Given the description of an element on the screen output the (x, y) to click on. 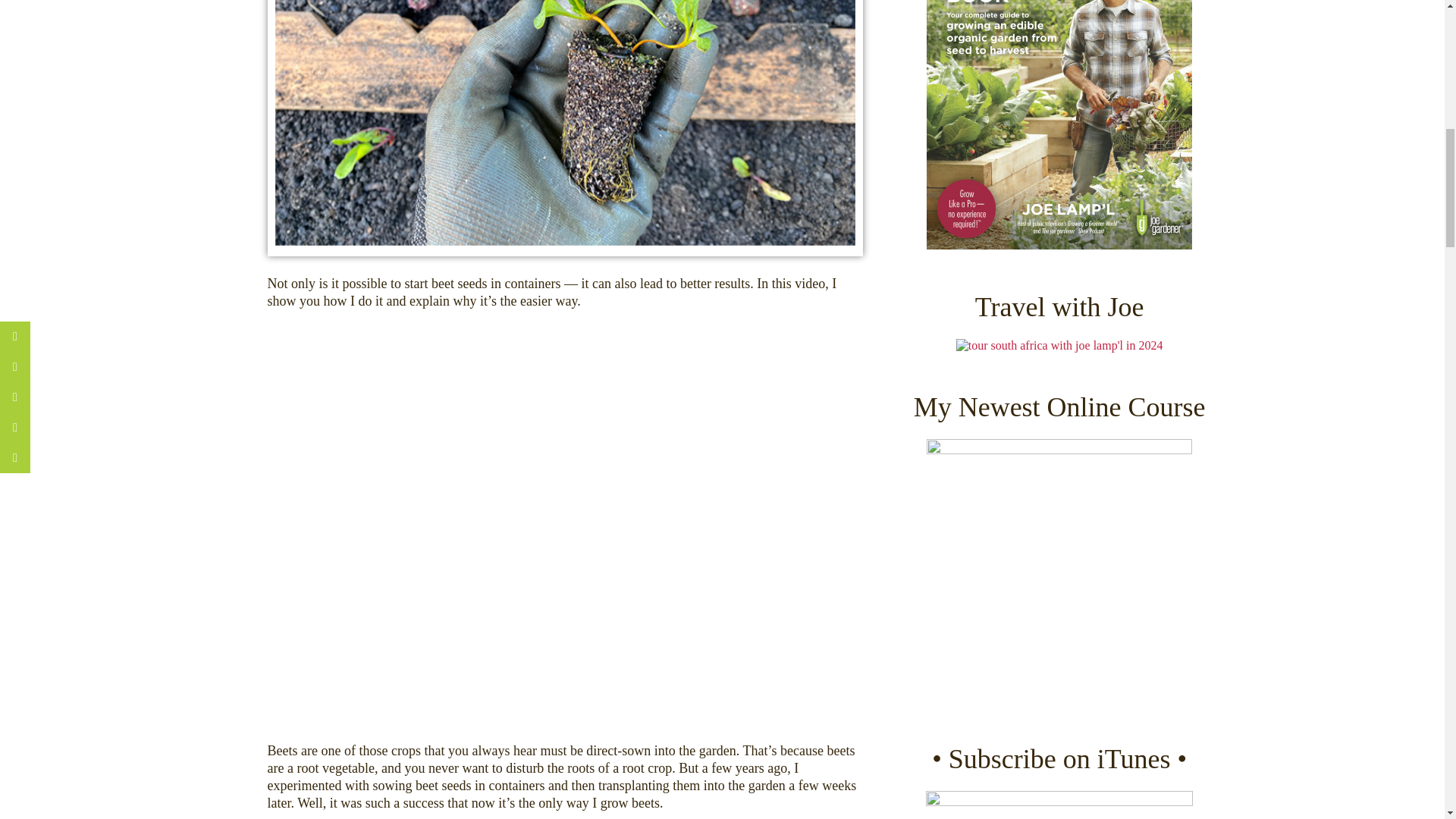
Travel with Joe (1059, 345)
My Newest Book! (1059, 124)
My Newest Online Course (1059, 571)
